Given the description of an element on the screen output the (x, y) to click on. 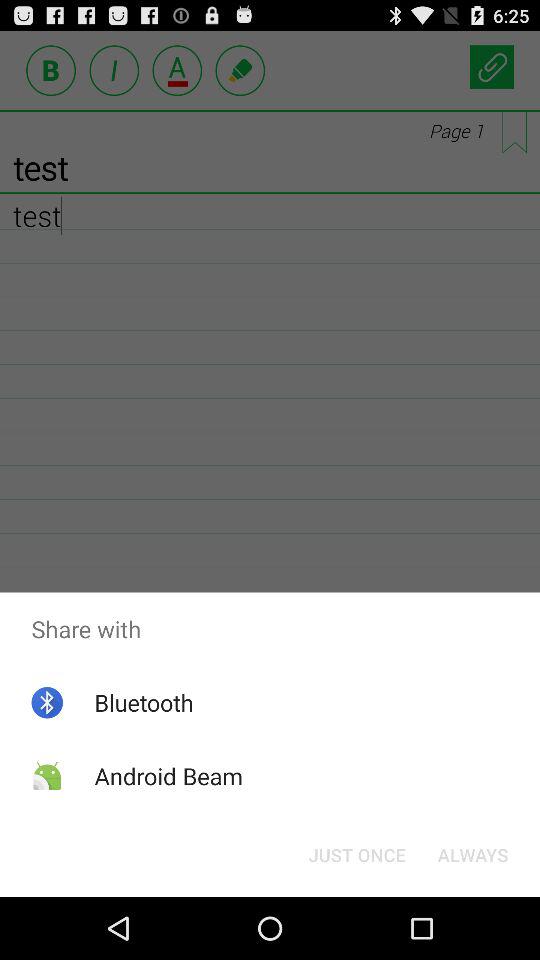
flip until the just once item (356, 854)
